Given the description of an element on the screen output the (x, y) to click on. 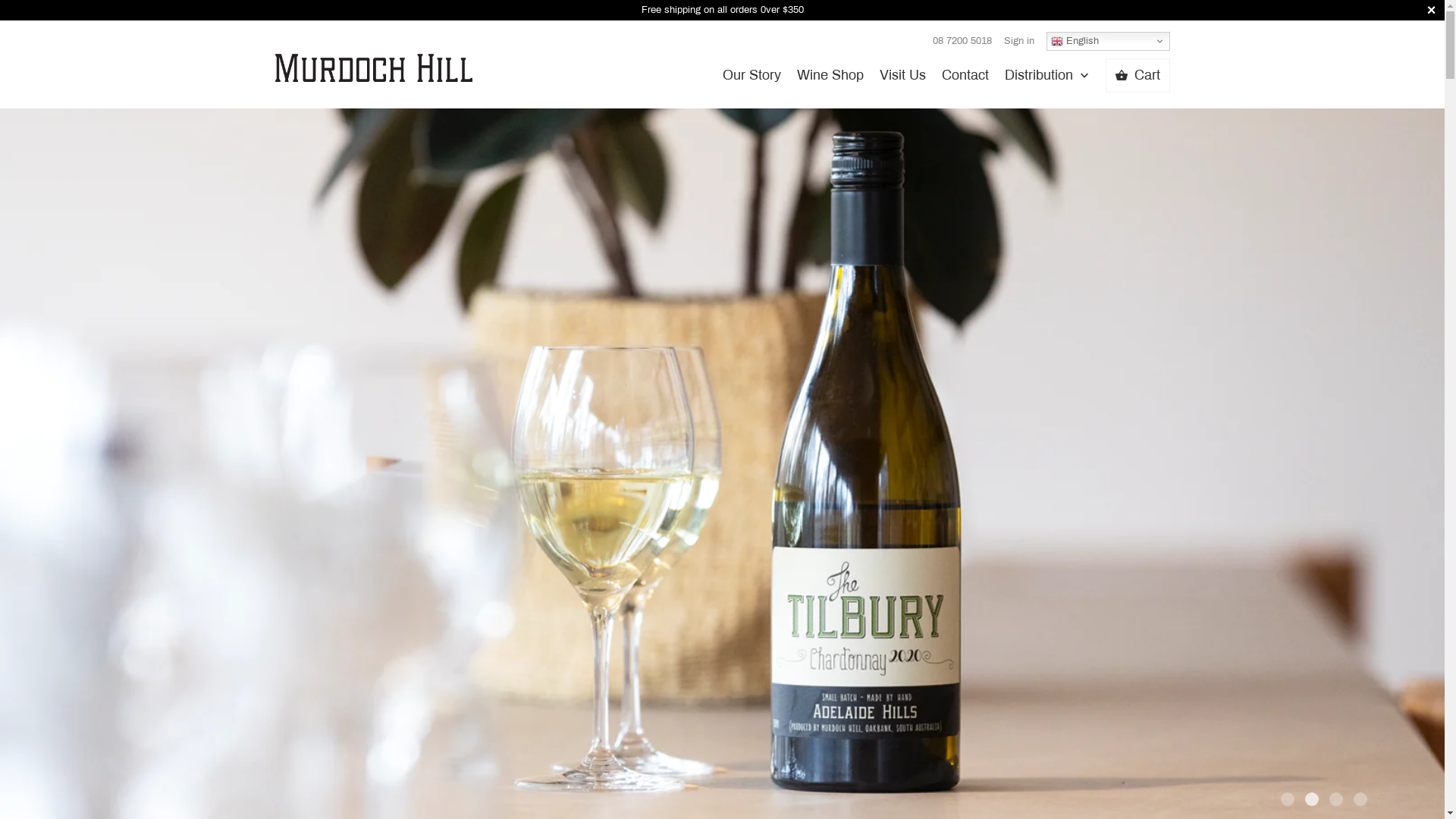
English Element type: text (1108, 40)
Wine Shop Element type: text (830, 78)
Murdoch Hill Element type: hover (372, 56)
08 7200 5018 Element type: text (961, 40)
Visit Us Element type: text (902, 78)
Contact Element type: text (964, 78)
Cart Element type: text (1137, 75)
Sign in Element type: text (1019, 40)
Free shipping on all orders 0ver $350 Element type: text (722, 9)
Our Story Element type: text (751, 78)
Distribution Element type: text (1046, 79)
